Given the description of an element on the screen output the (x, y) to click on. 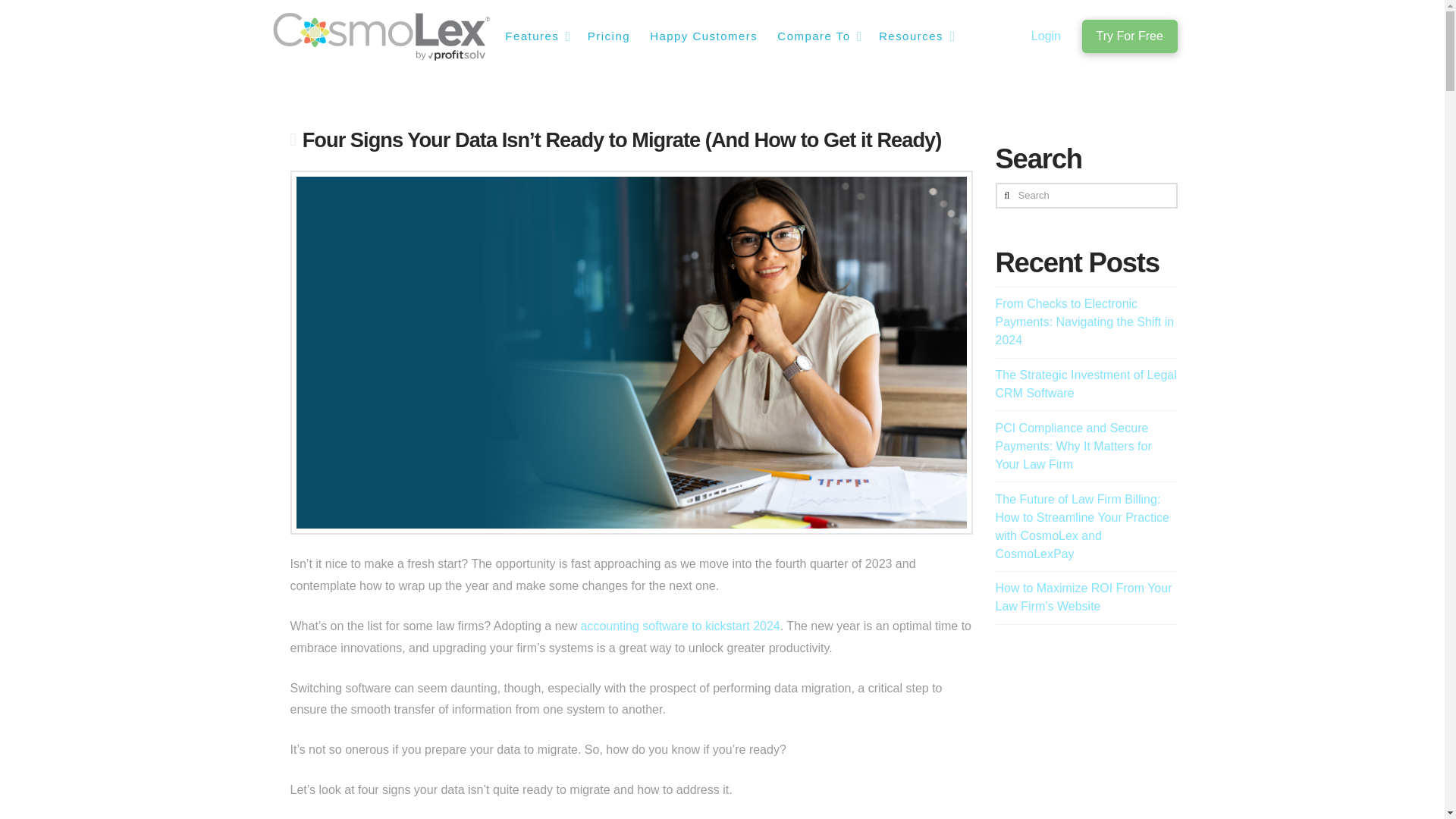
Try For Free (1128, 36)
Compare To (818, 36)
accounting software to kickstart 2024 (680, 625)
Happy Customers (703, 36)
Resources (913, 36)
Login (1045, 35)
Features (535, 36)
